Given the description of an element on the screen output the (x, y) to click on. 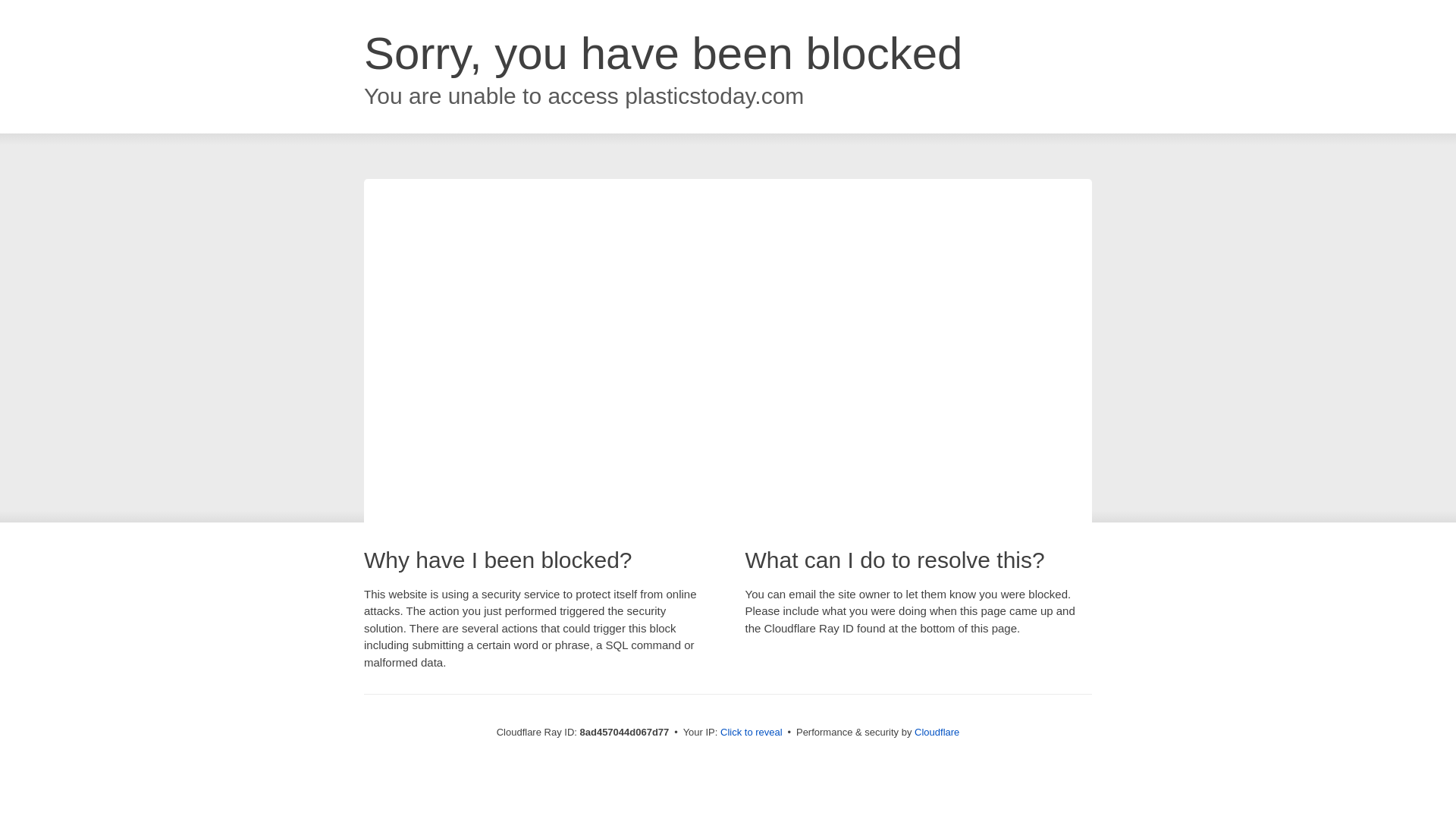
Click to reveal (751, 732)
Cloudflare (936, 731)
